Given the description of an element on the screen output the (x, y) to click on. 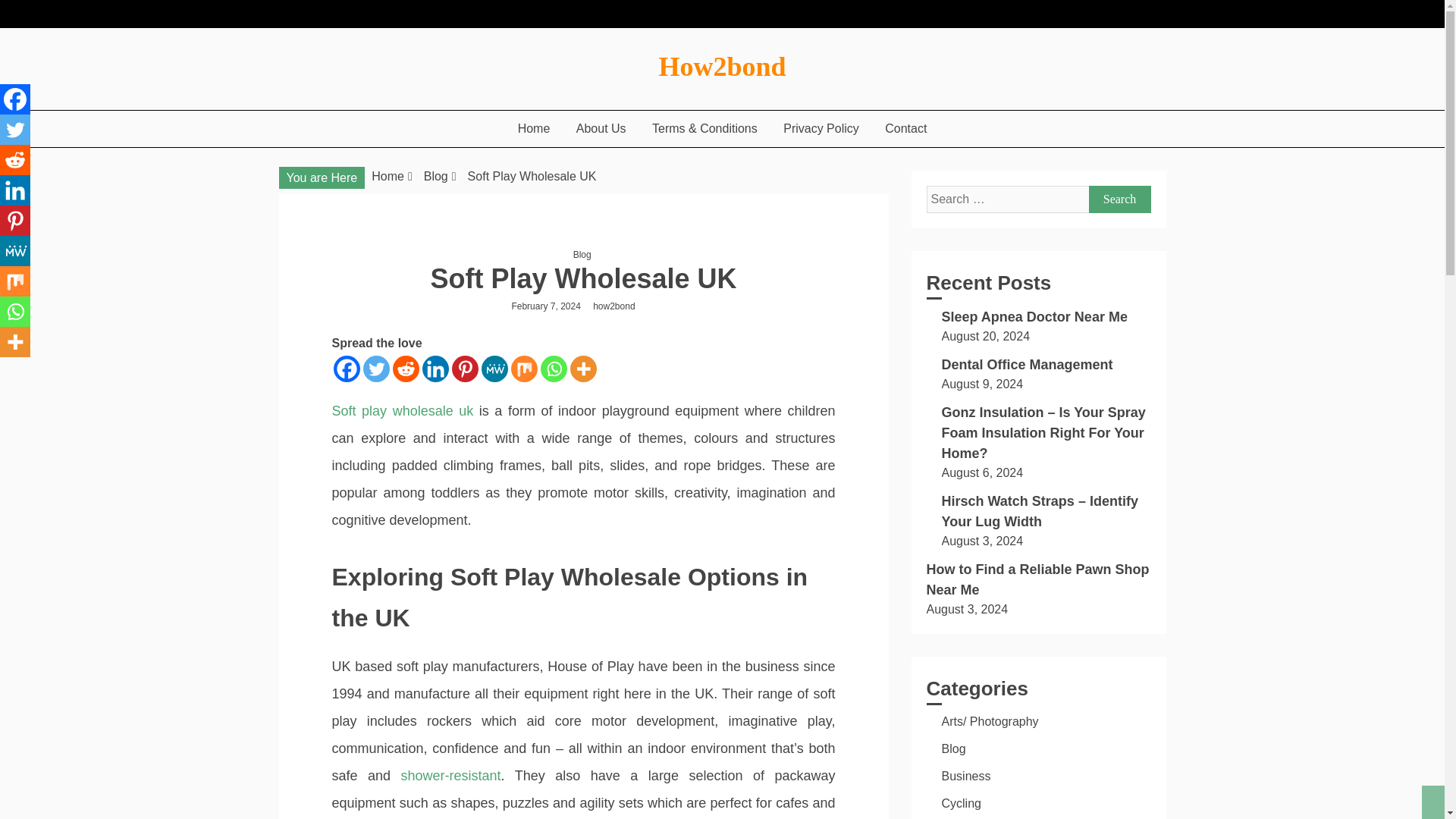
How2bond (722, 66)
Soft play wholesale uk (402, 410)
Search (1120, 198)
how2bond (617, 306)
Blog (582, 254)
Twitter (375, 368)
Home (387, 175)
February 7, 2024 (545, 306)
Reddit (406, 368)
Soft Play Wholesale UK (531, 175)
